Given the description of an element on the screen output the (x, y) to click on. 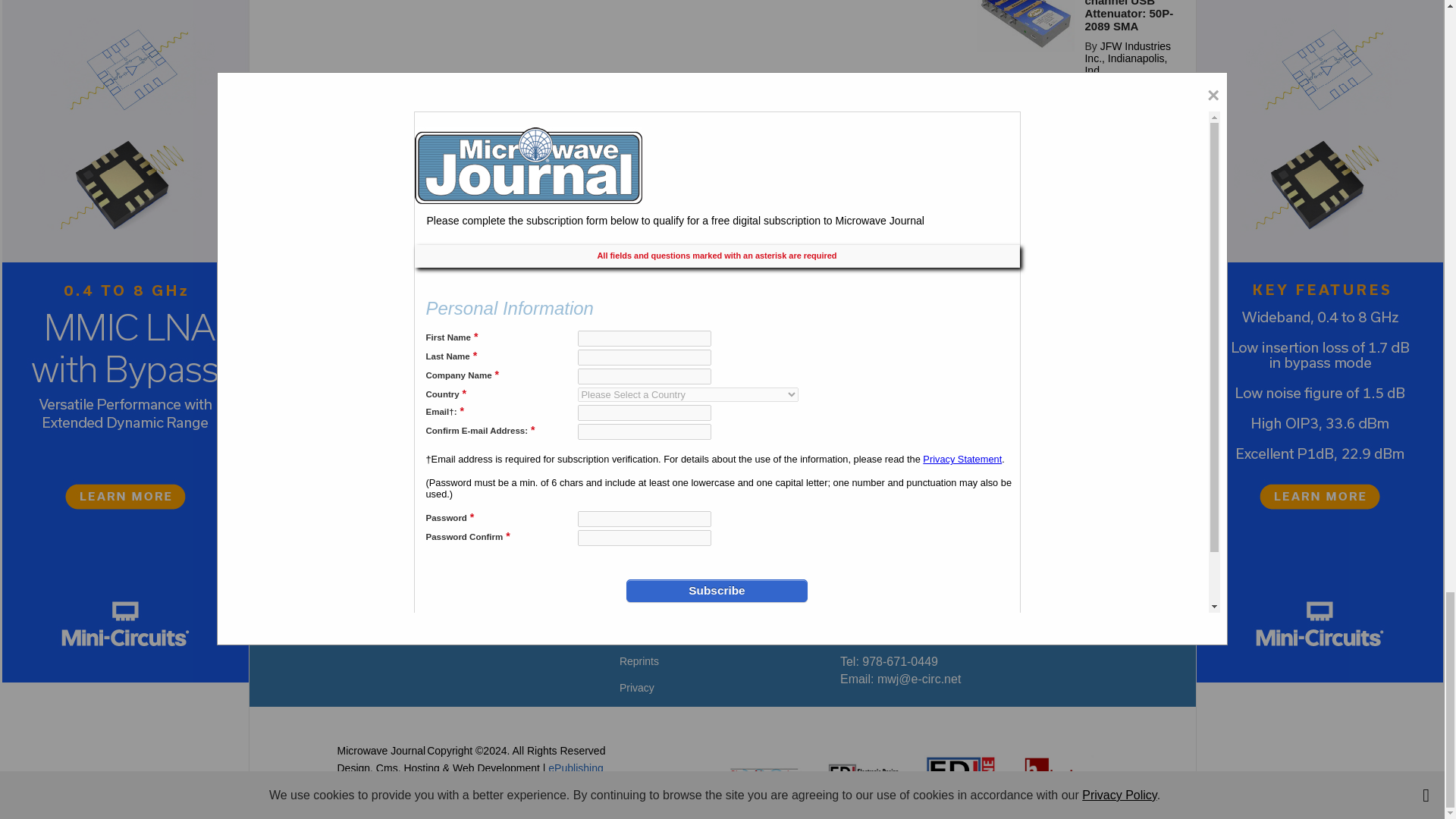
richardson-2-29-24wjt.jpg (1025, 251)
200x200 AMP 2123P-4KW No-Cost eNewsletter Promotion-6-3.jpg (1025, 146)
50P-2089 SMAwjt.jpg (1025, 25)
3rd party ad content (721, 396)
